Given the description of an element on the screen output the (x, y) to click on. 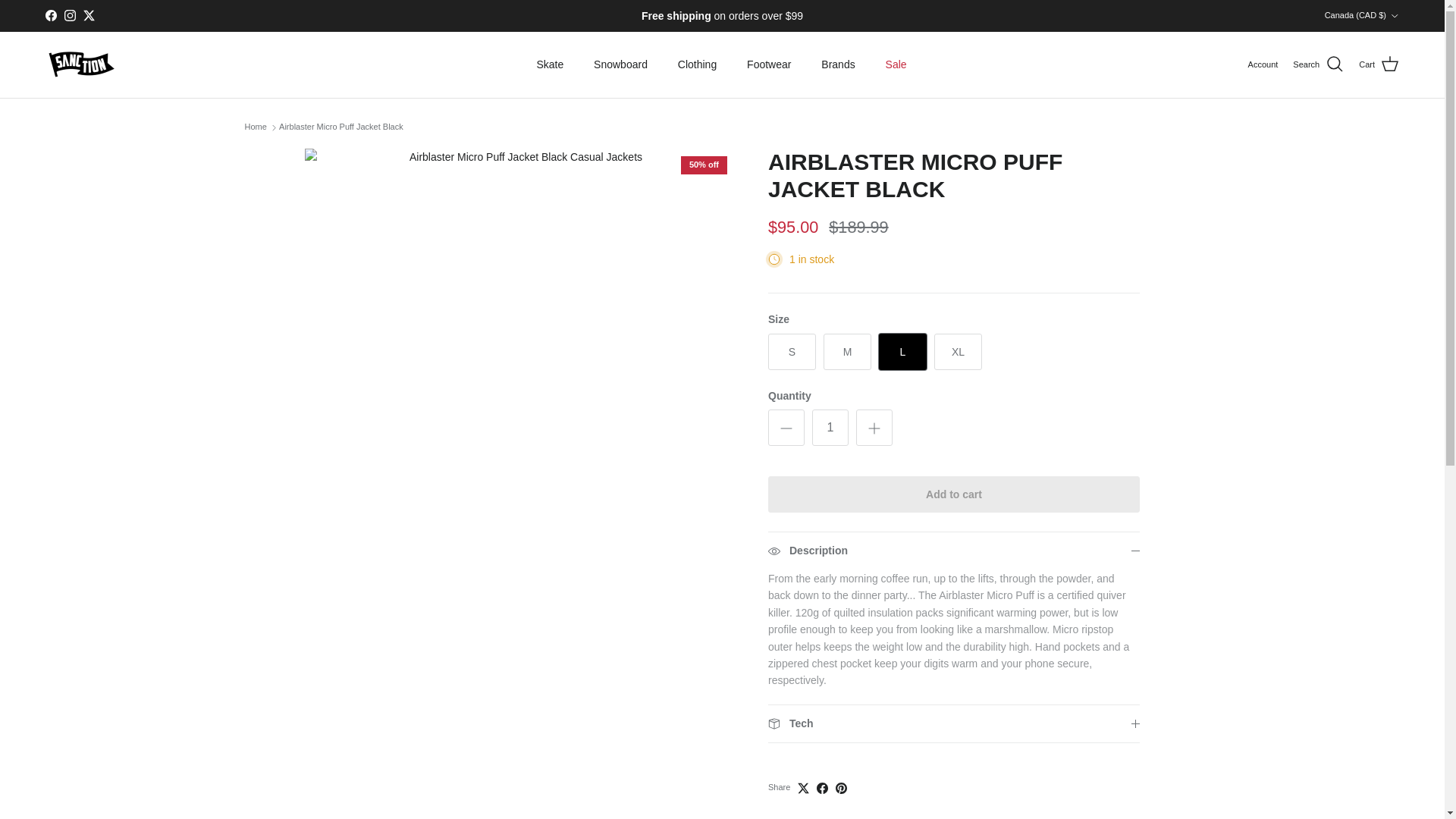
Sanction Skate And Snow on Instagram (69, 15)
Cart (1378, 64)
Search (1317, 64)
Instagram (69, 15)
Sale (896, 64)
Account (1262, 65)
Snowboard (620, 64)
Twitter (88, 15)
Clothing (696, 64)
1 (830, 427)
Skate (549, 64)
Sanction Skate And Snow (81, 64)
Sanction Skate And Snow on Facebook (50, 15)
Footwear (769, 64)
Tweet on X (803, 787)
